Given the description of an element on the screen output the (x, y) to click on. 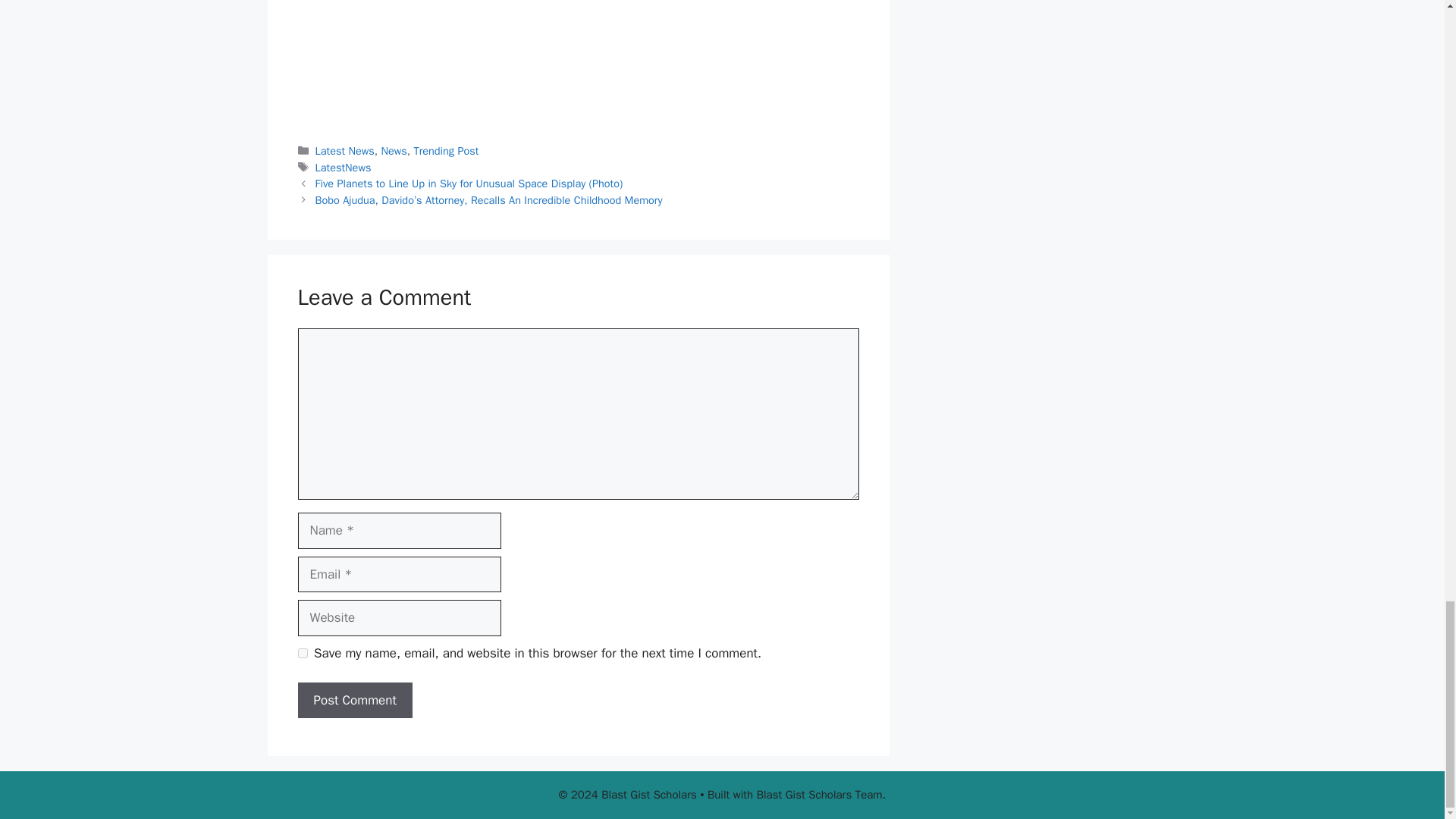
yes (302, 653)
LatestNews (343, 167)
Advertisement (578, 60)
News (393, 151)
Latest News (344, 151)
Trending Post (446, 151)
Post Comment (354, 700)
Post Comment (354, 700)
